Given the description of an element on the screen output the (x, y) to click on. 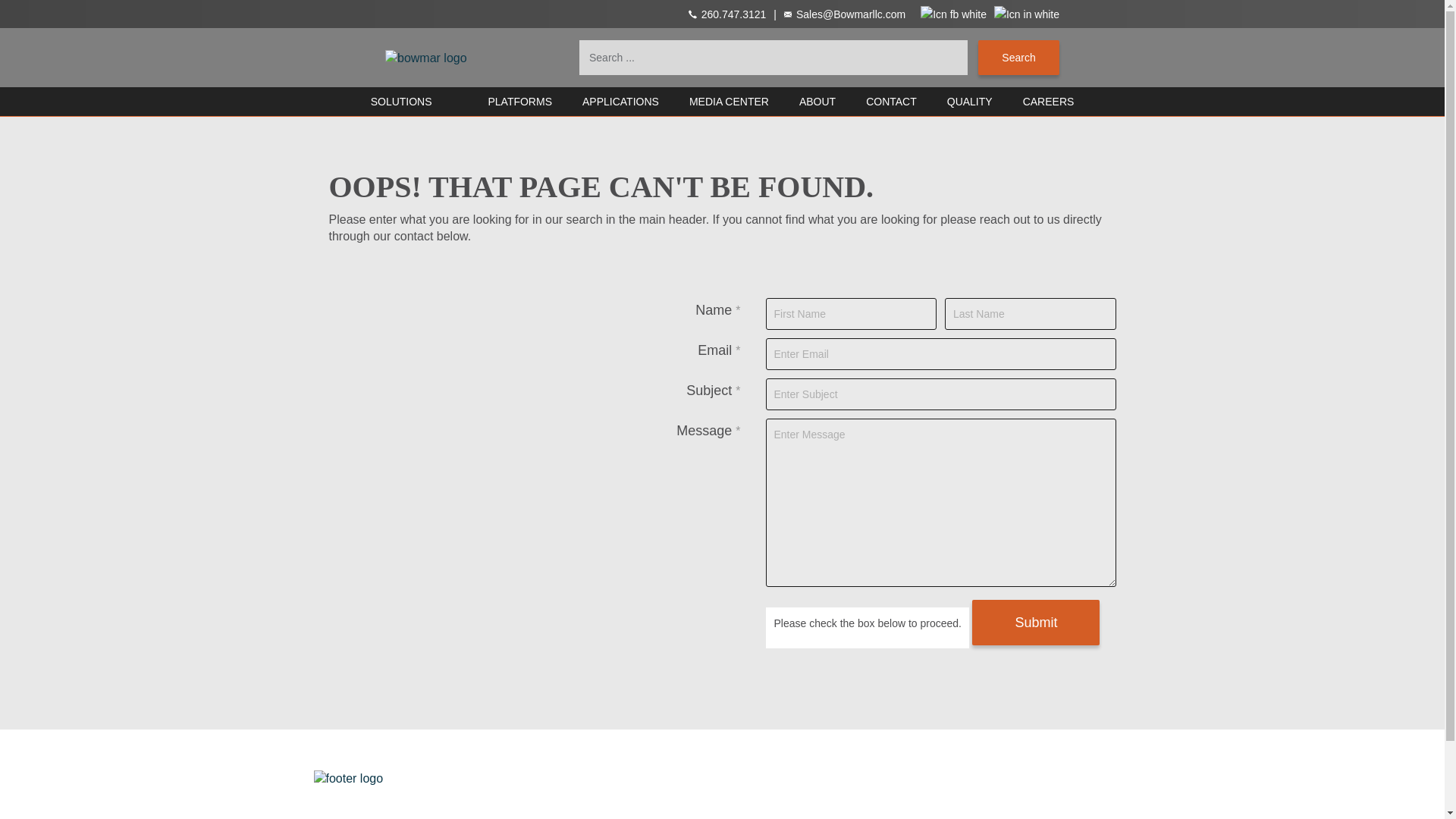
CONTACT (774, 777)
Submit (1035, 622)
CONTACT (891, 101)
QUALITY (1032, 777)
ABOUT (817, 101)
APPLICATIONS (620, 101)
SOLUTIONS (401, 101)
CAREERS (842, 777)
ABOUT (541, 777)
PLATFORMS (608, 777)
